Given the description of an element on the screen output the (x, y) to click on. 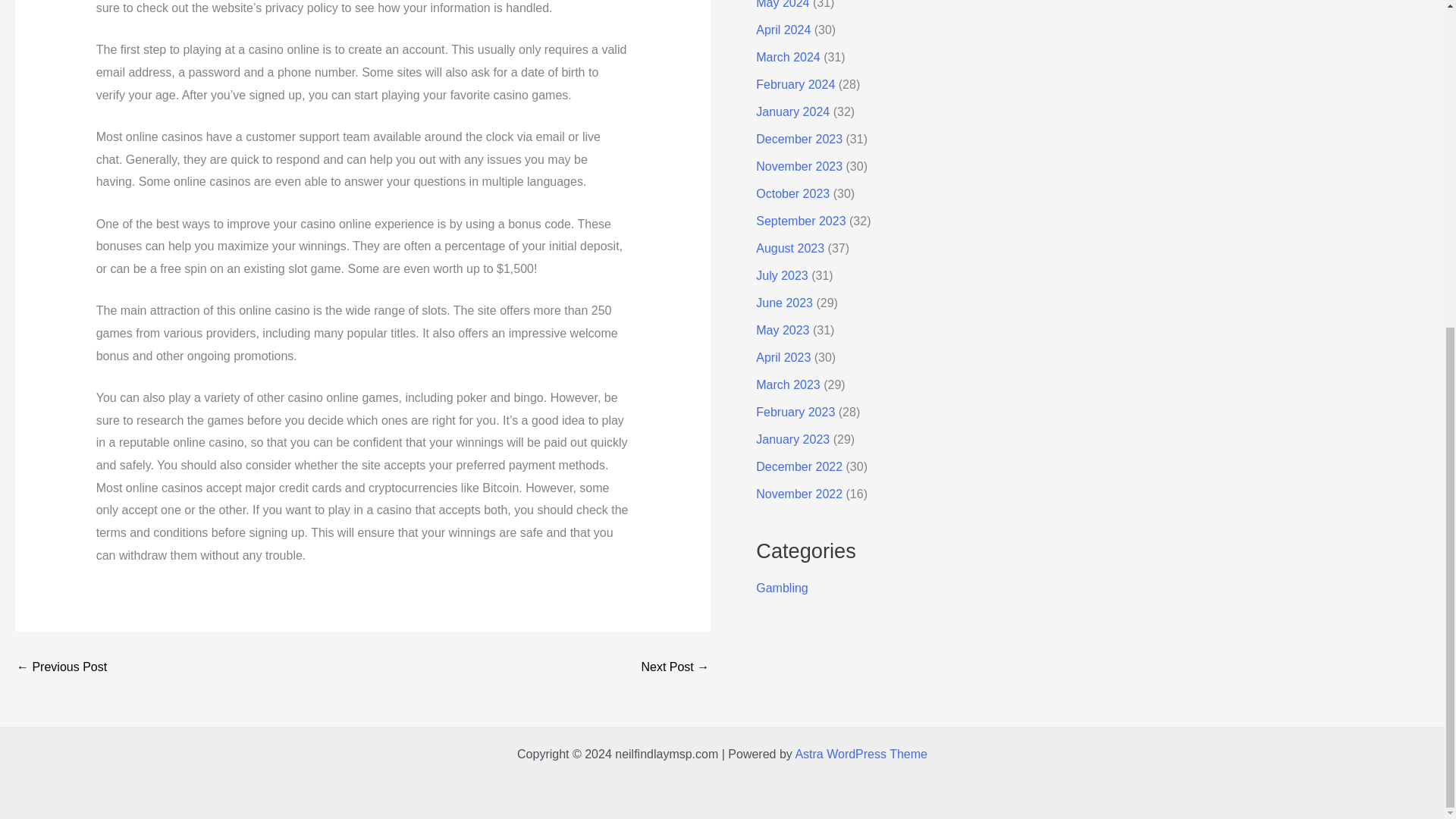
February 2024 (794, 83)
August 2023 (789, 247)
January 2023 (792, 439)
February 2023 (794, 411)
How to Win Big at a Sportsbook (674, 666)
Astra WordPress Theme (860, 753)
September 2023 (800, 220)
May 2024 (782, 4)
June 2023 (783, 302)
November 2023 (799, 165)
